Given the description of an element on the screen output the (x, y) to click on. 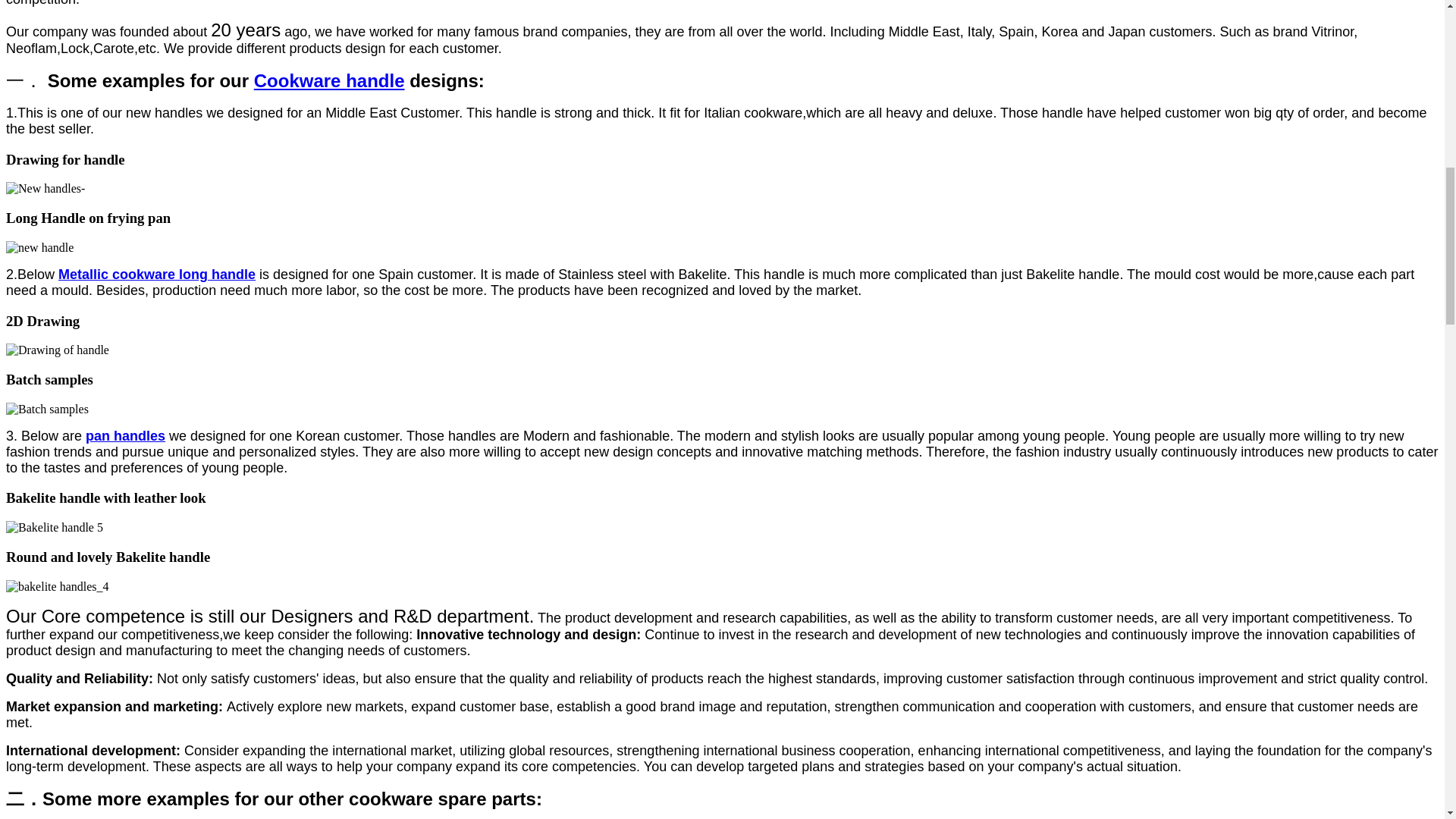
Metallic cookware long handle (157, 273)
pan handles (125, 435)
Cookware handle (328, 80)
